Given the description of an element on the screen output the (x, y) to click on. 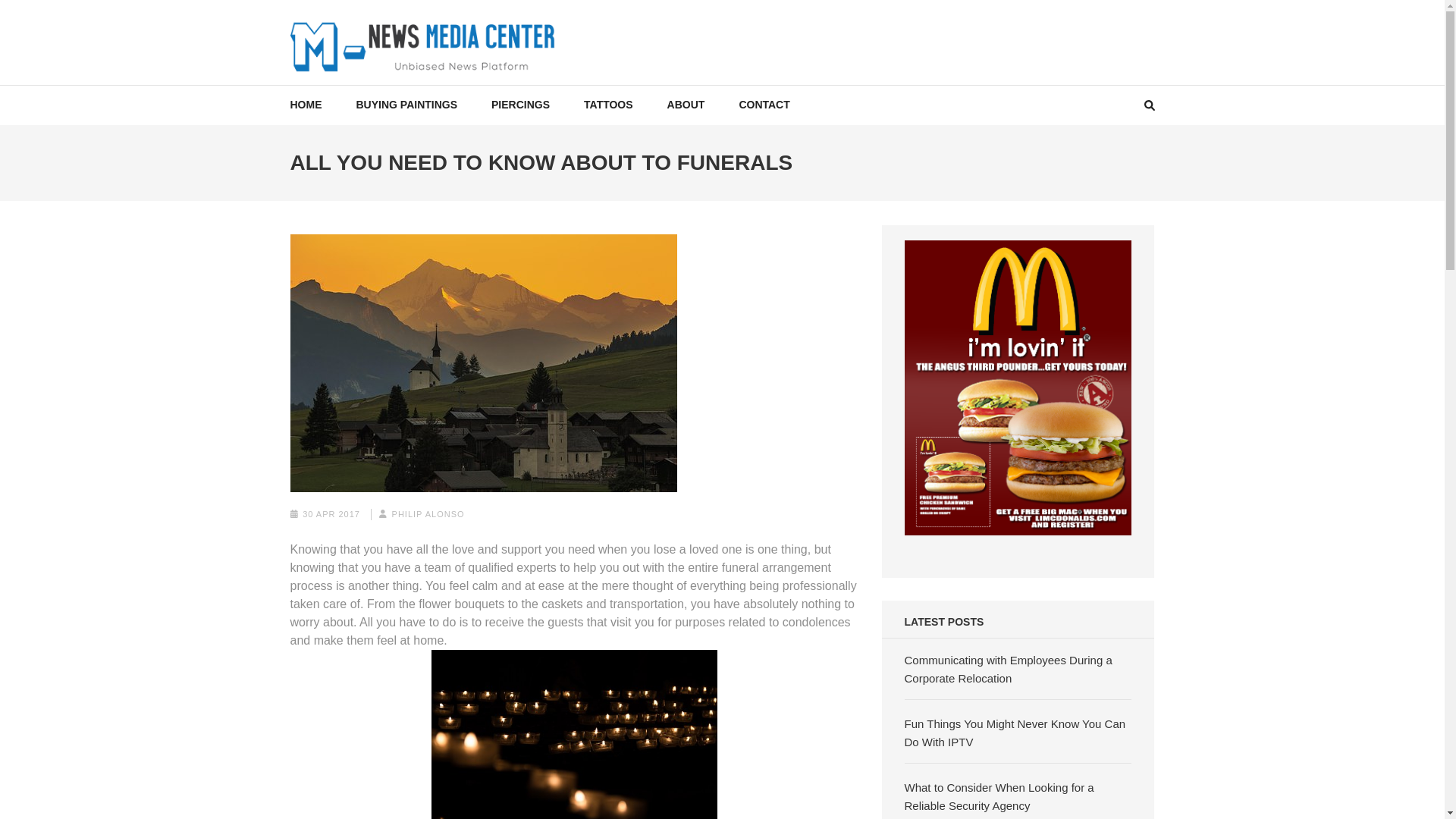
30 APR 2017 (330, 513)
PIERCINGS (521, 104)
TATTOOS (608, 104)
What to Consider When Looking for a Reliable Security Agency (999, 796)
BUYING PAINTINGS (407, 104)
ABOUT (685, 104)
Communicating with Employees During a Corporate Relocation (1008, 668)
PHILIP ALONSO (427, 513)
Fun Things You Might Never Know You Can Do With IPTV (1014, 732)
M-NEWS MEDIA CENTER (453, 87)
